Given the description of an element on the screen output the (x, y) to click on. 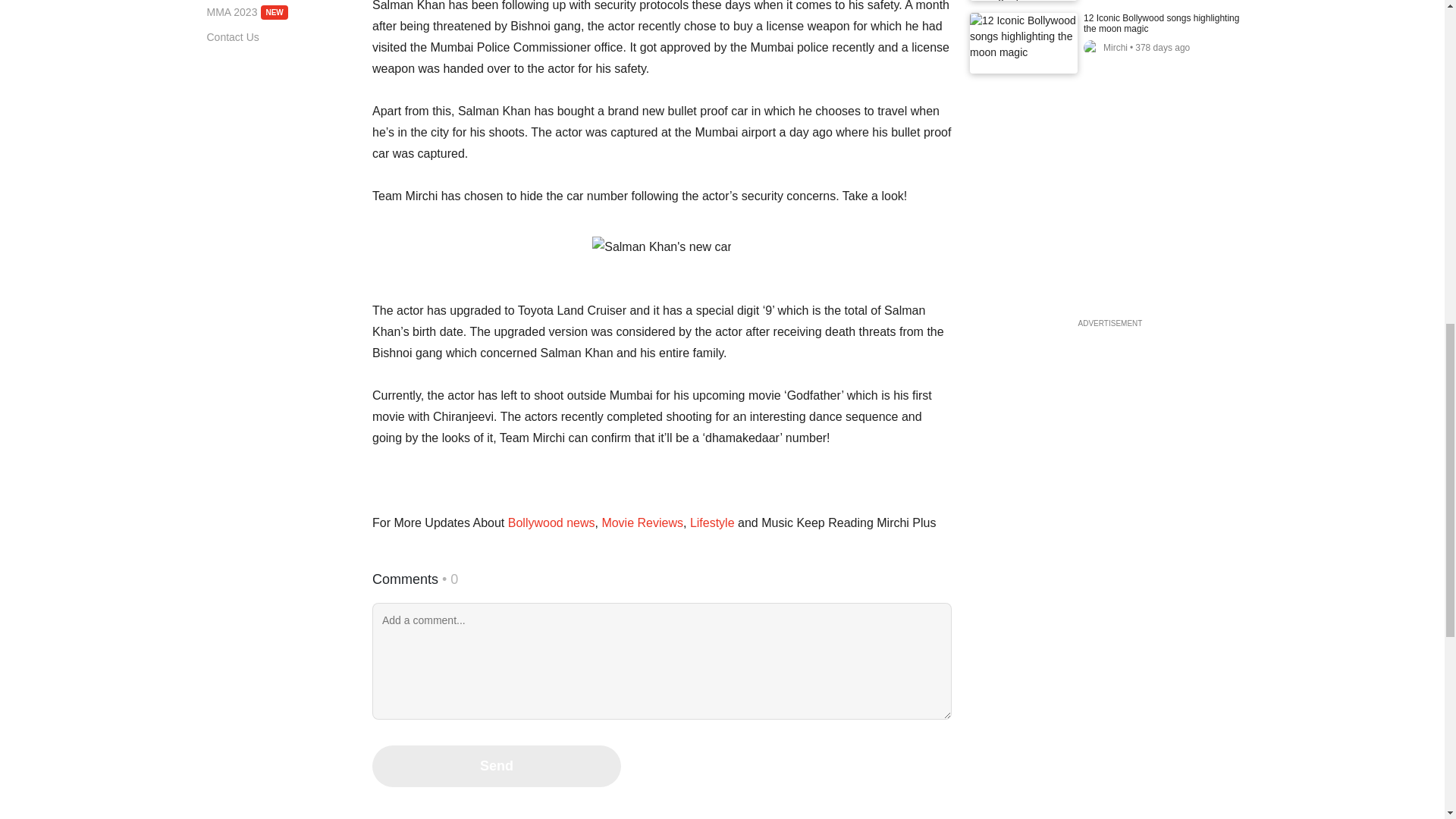
Movie Reviews (279, 12)
Lifestyle (641, 522)
Salman Khan's new car (710, 522)
Bollywood news (662, 246)
MMA 2023 (550, 522)
Contact Us (279, 12)
Contact Us (279, 37)
